Given the description of an element on the screen output the (x, y) to click on. 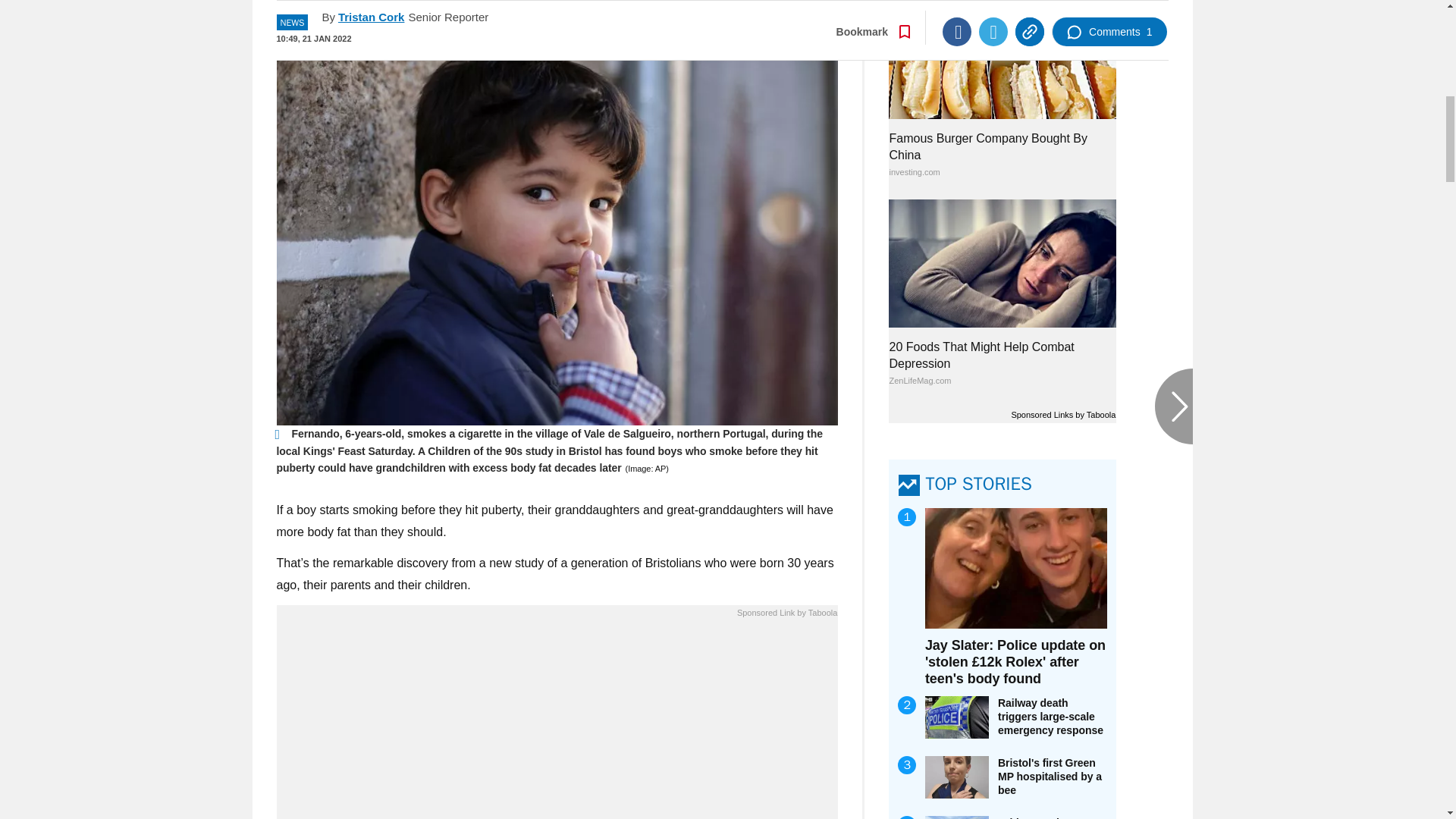
Go (730, 17)
